Given the description of an element on the screen output the (x, y) to click on. 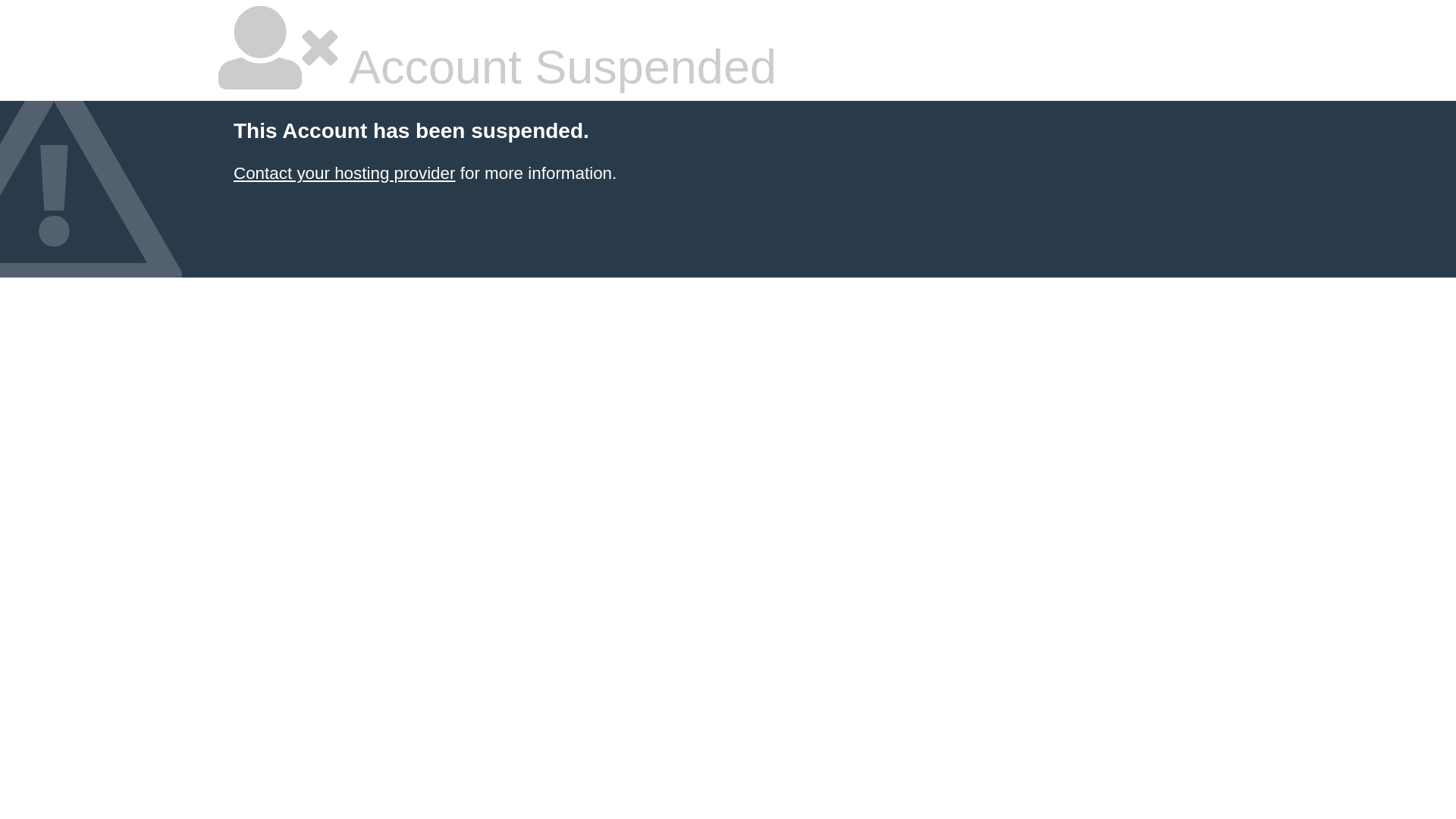
Contact your hosting provider Element type: text (344, 172)
